Given the description of an element on the screen output the (x, y) to click on. 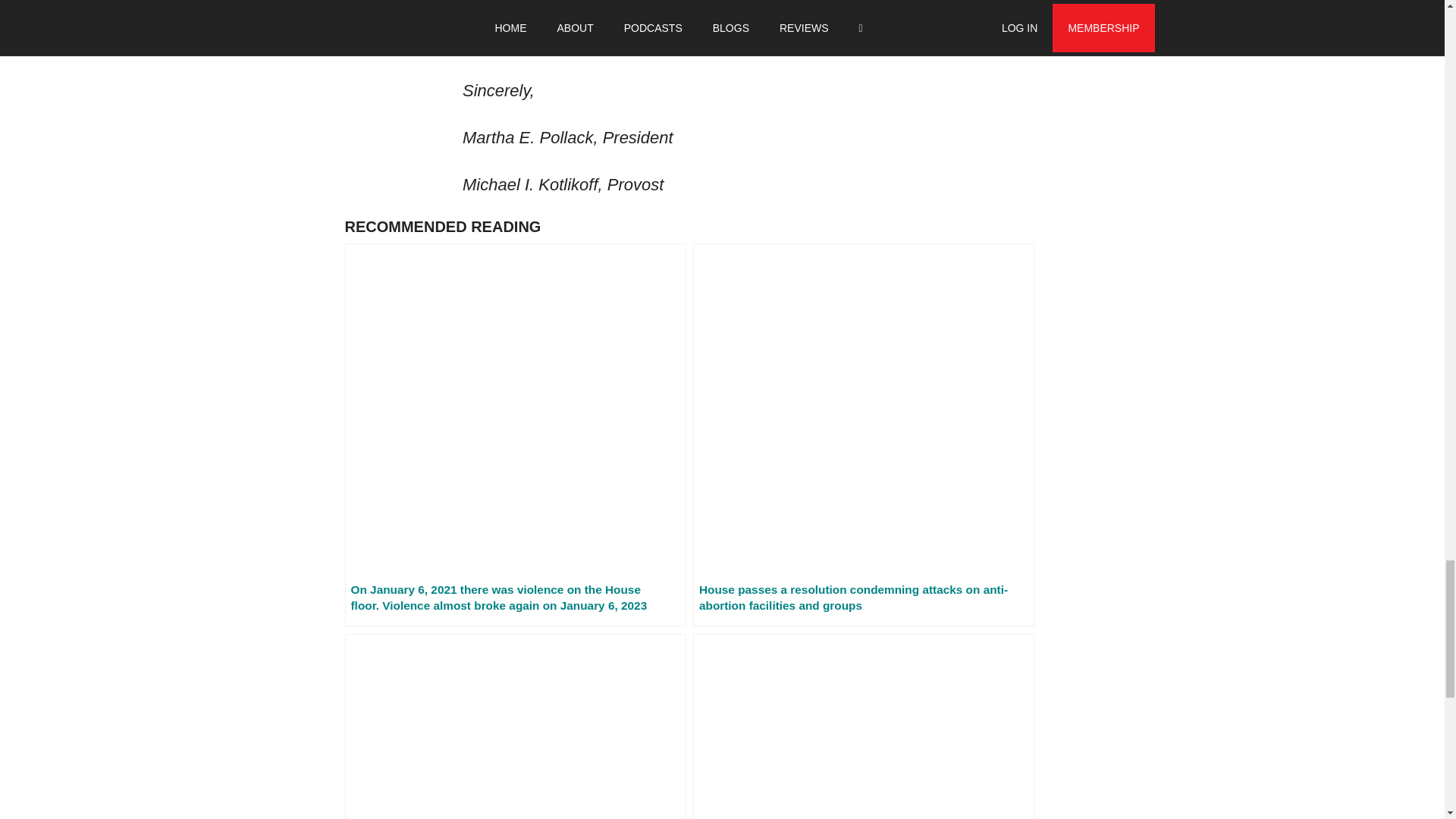
FORUM: What Does Higher Education Need Now? Part One (863, 726)
FORUM: What Does Higher Education Need Now? Part One (863, 726)
